Given the description of an element on the screen output the (x, y) to click on. 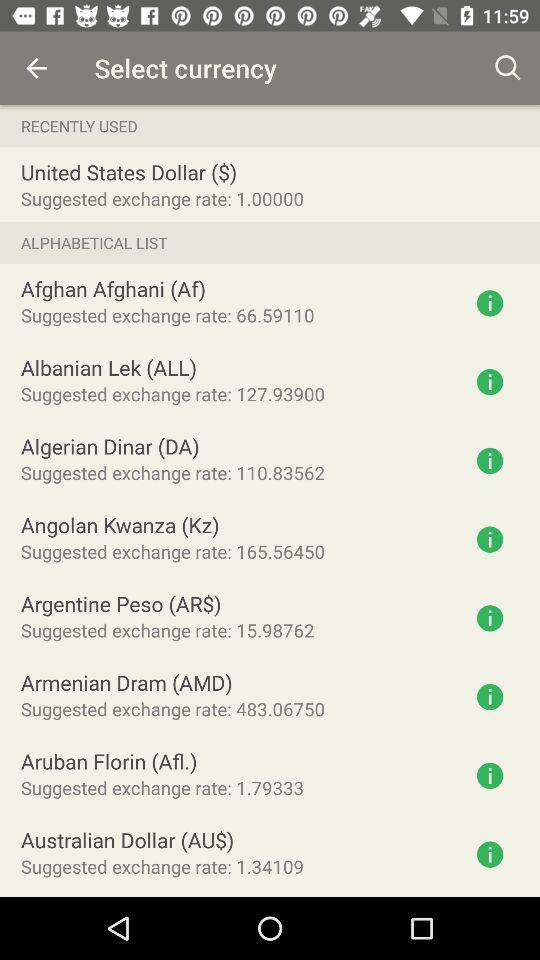
select the icon above recently used (508, 67)
